Given the description of an element on the screen output the (x, y) to click on. 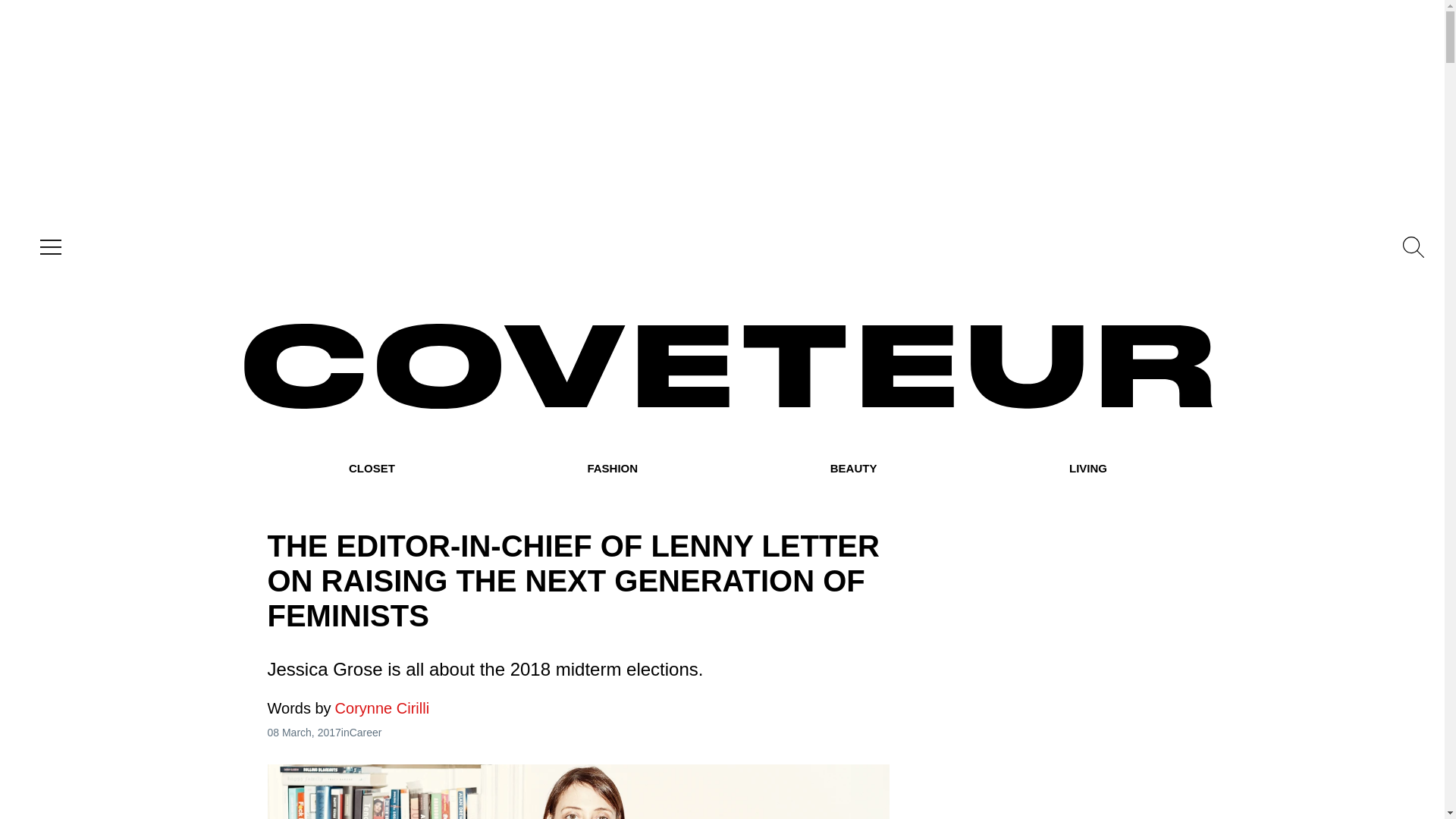
Corynne Cirilli (347, 708)
FASHION (611, 468)
LIVING (1087, 468)
Career (365, 732)
menu (47, 246)
CLOSET (371, 468)
BEAUTY (853, 468)
